Given the description of an element on the screen output the (x, y) to click on. 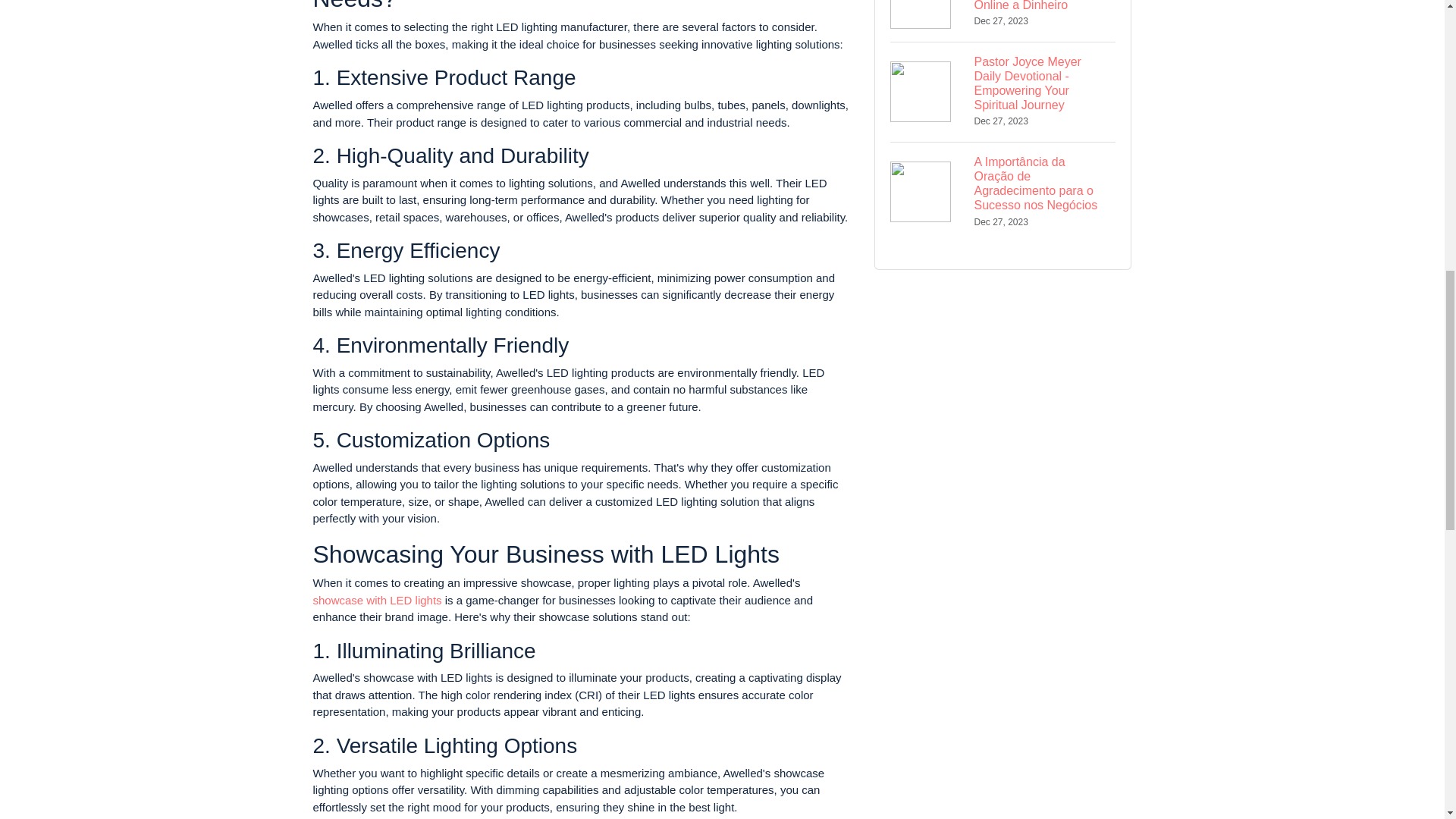
showcase with LED lights (377, 599)
